Given the description of an element on the screen output the (x, y) to click on. 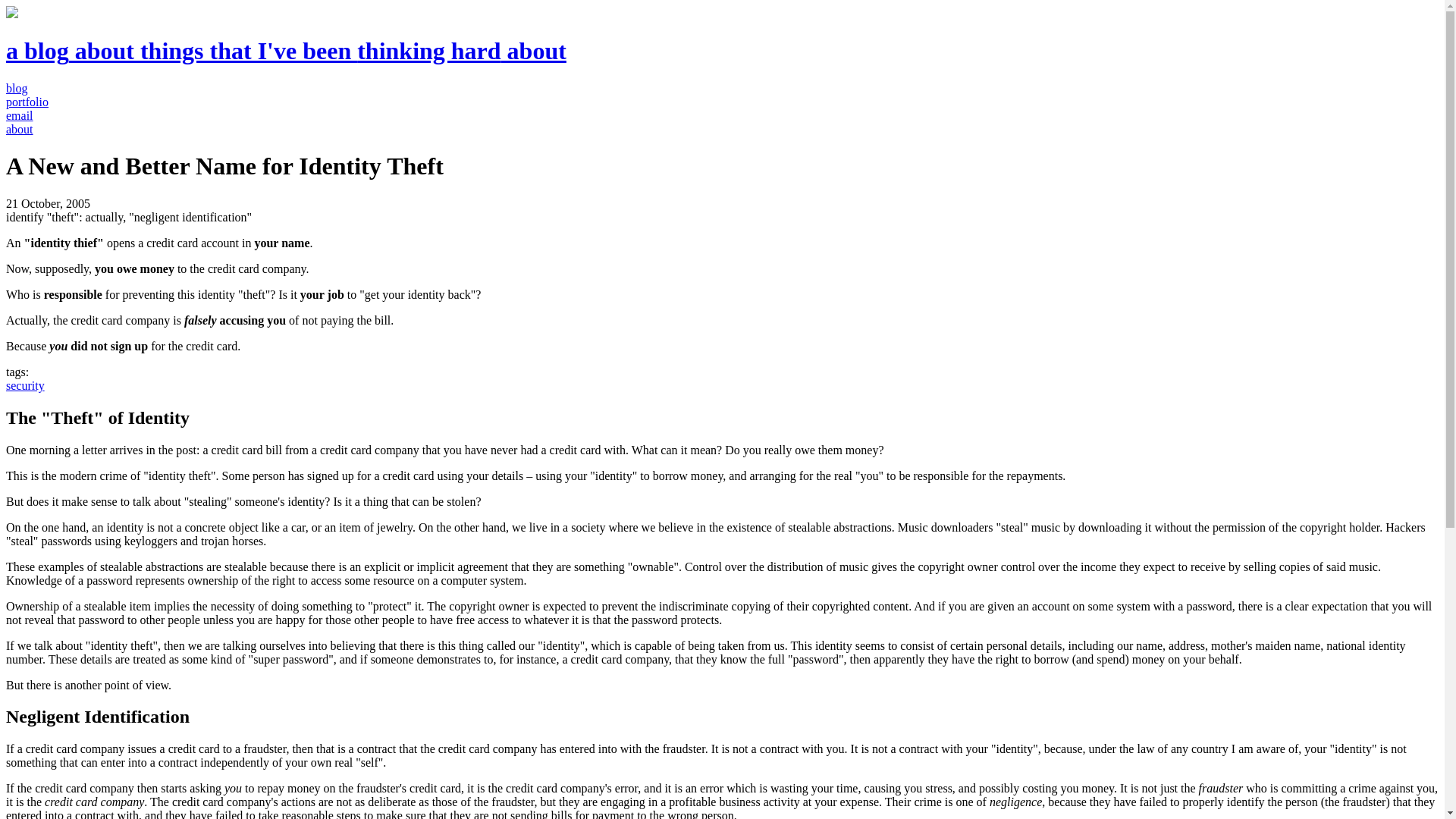
a blog about things that I've been thinking hard about (285, 50)
about (19, 128)
blog (16, 88)
A portfolio of side-projects (26, 101)
Instructions about how to email me (19, 115)
security (25, 385)
My blog where I write articles about different things (16, 88)
portfolio (26, 101)
email (19, 115)
